Given the description of an element on the screen output the (x, y) to click on. 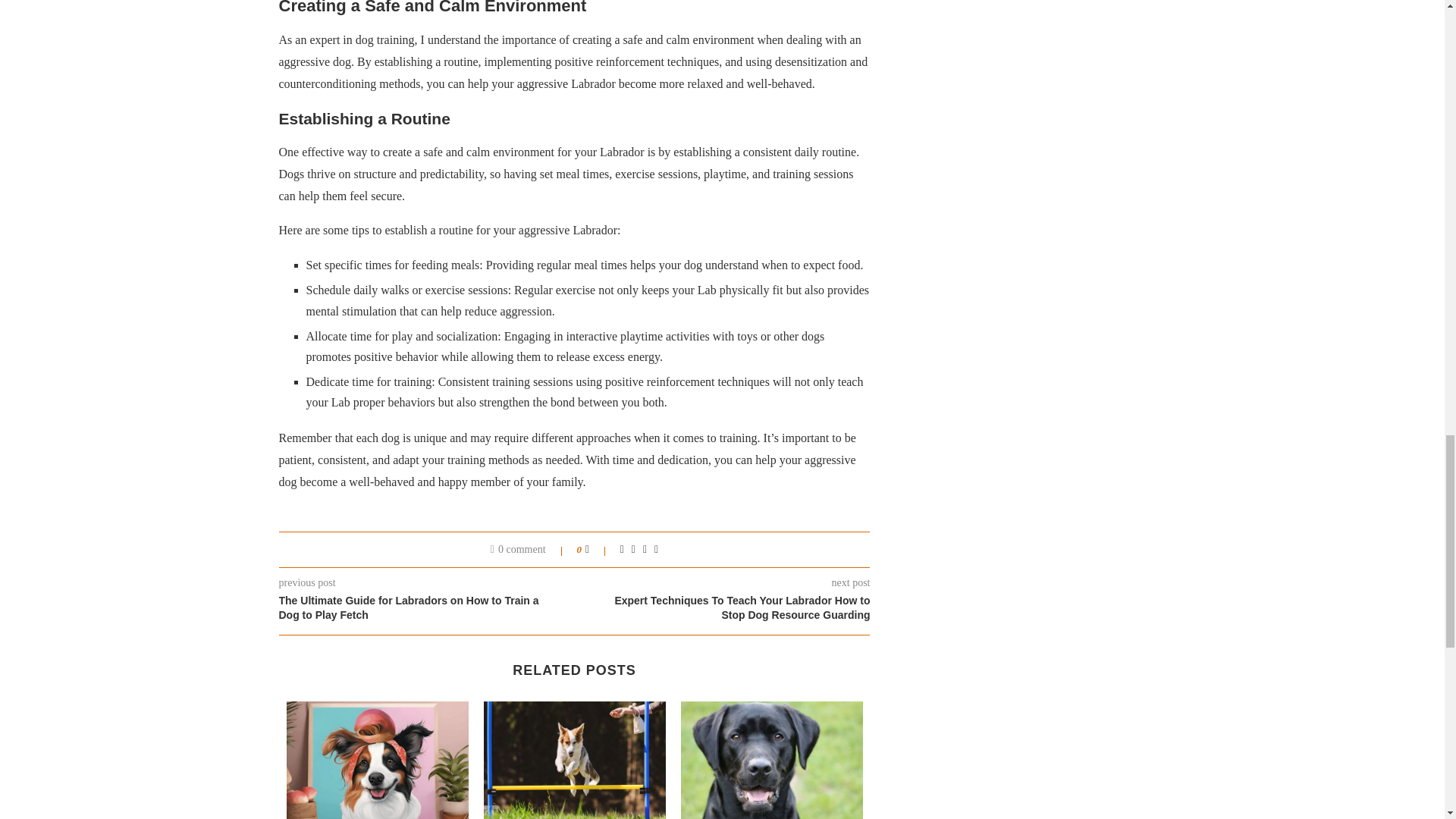
New Family Therapy Dog Training Course (574, 760)
Like (597, 549)
Dog Cartoon Portraits: Quirky Art for Pet Lovers (377, 760)
Training Your Labrador For Family Life Success (772, 760)
